Given the description of an element on the screen output the (x, y) to click on. 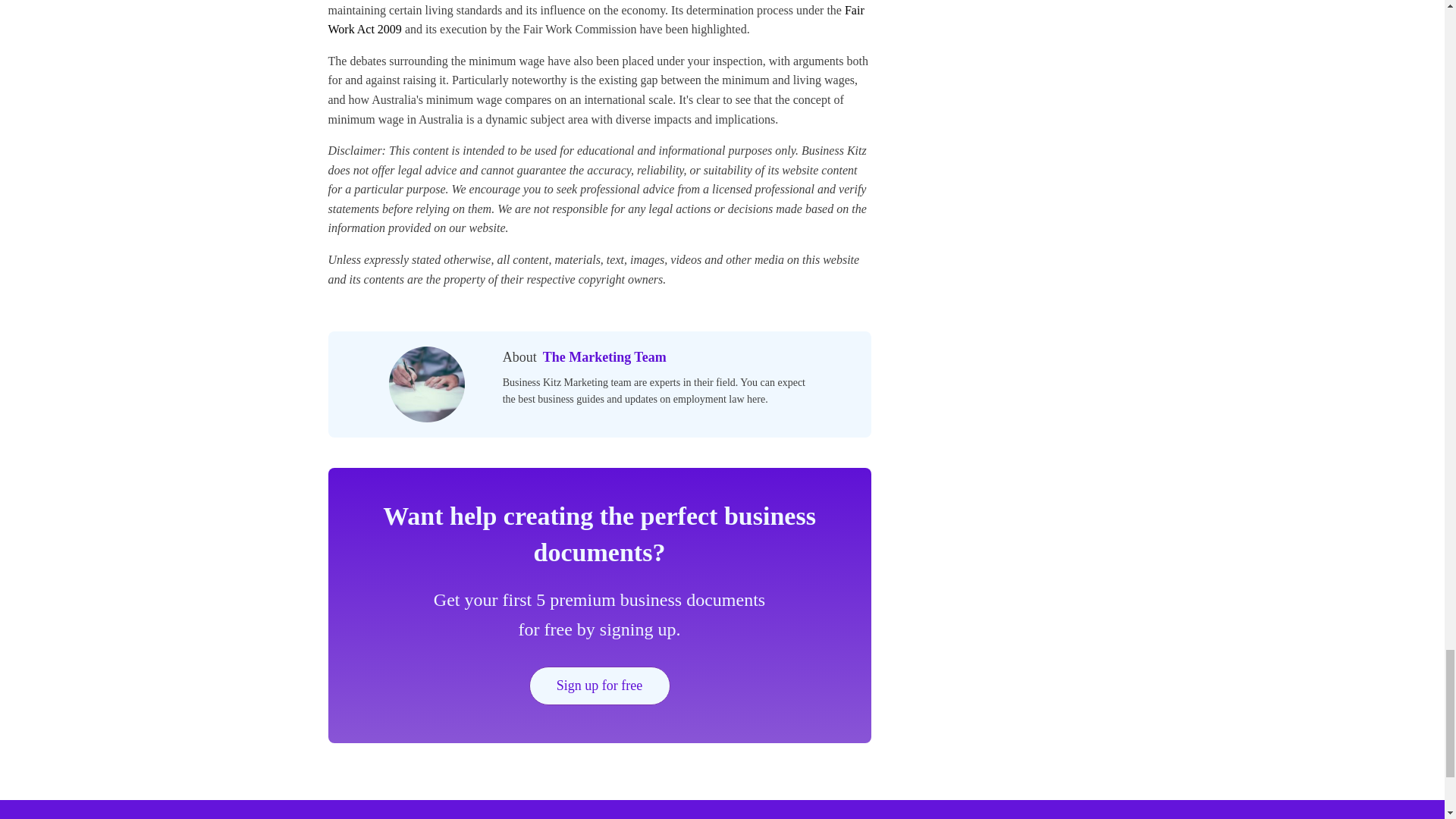
Sign up for free (599, 685)
Fair Work Act 2009 (595, 20)
